Given the description of an element on the screen output the (x, y) to click on. 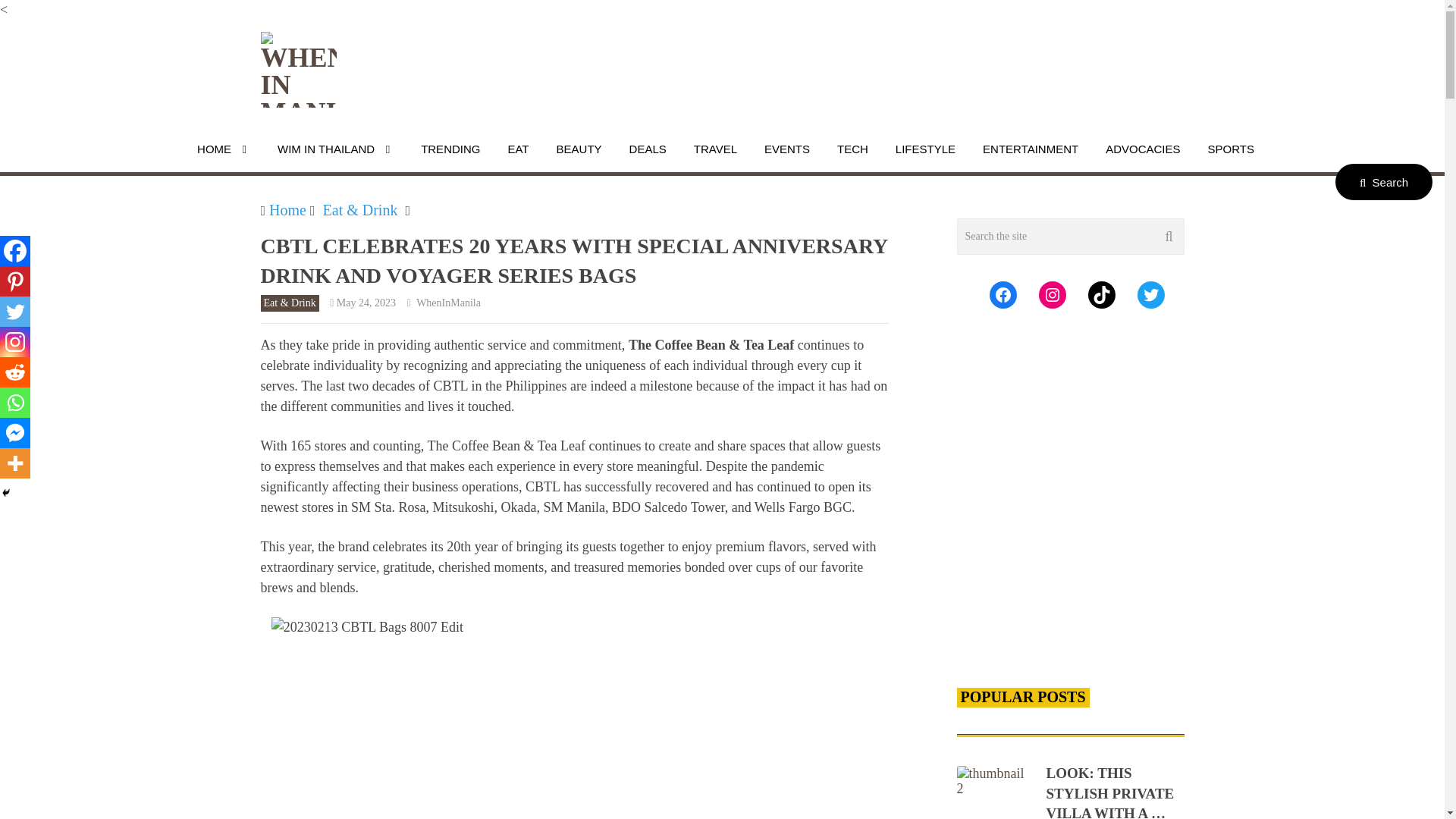
Facebook (15, 250)
TECH (852, 148)
HOME (224, 148)
  Search (1383, 181)
Instagram (15, 341)
Twitter (15, 311)
TRENDING (450, 148)
Posts by WhenInManila (448, 302)
BEAUTY (578, 148)
ENTERTAINMENT (1030, 148)
